Given the description of an element on the screen output the (x, y) to click on. 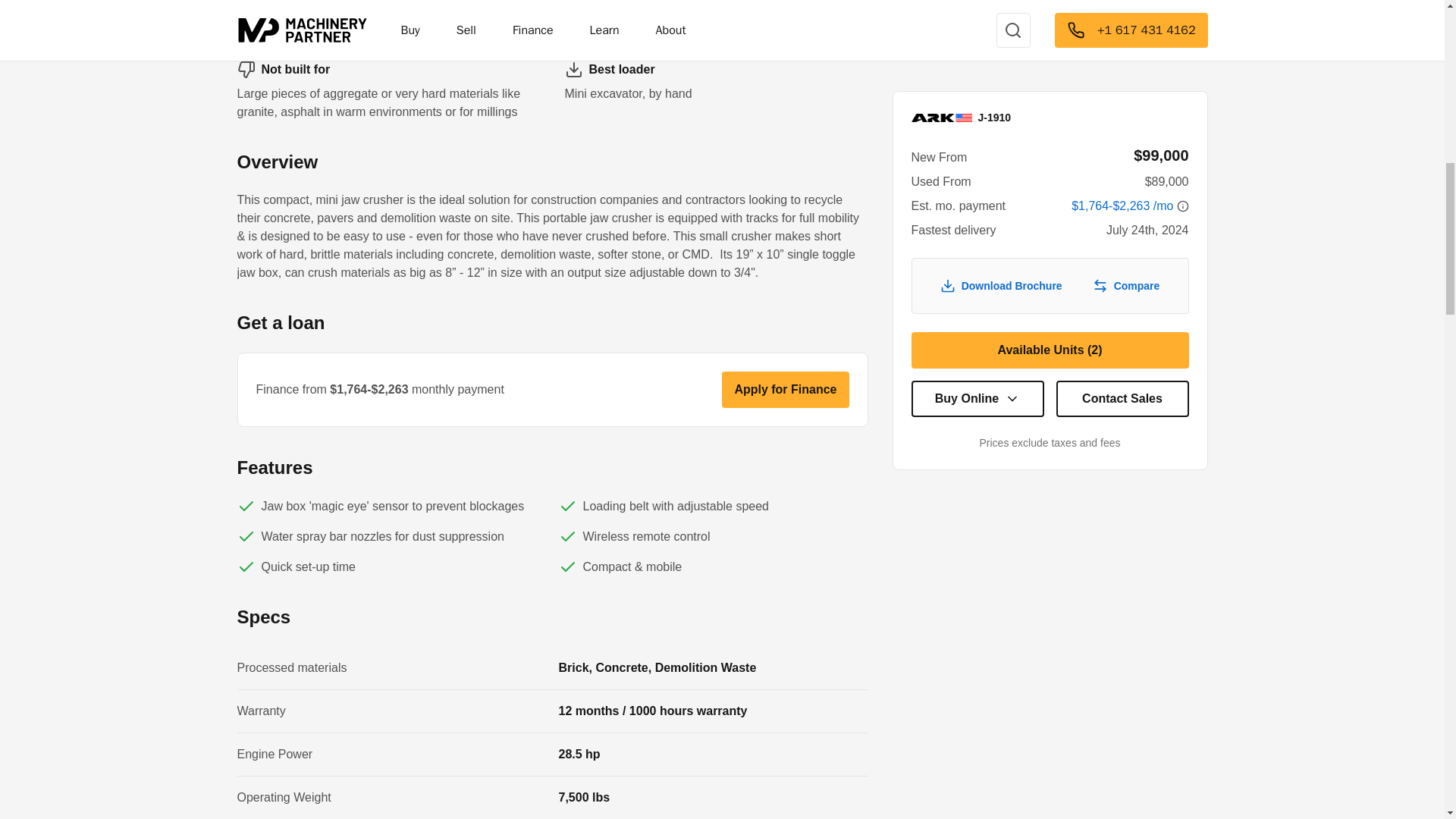
Apply for Finance (785, 389)
